Given the description of an element on the screen output the (x, y) to click on. 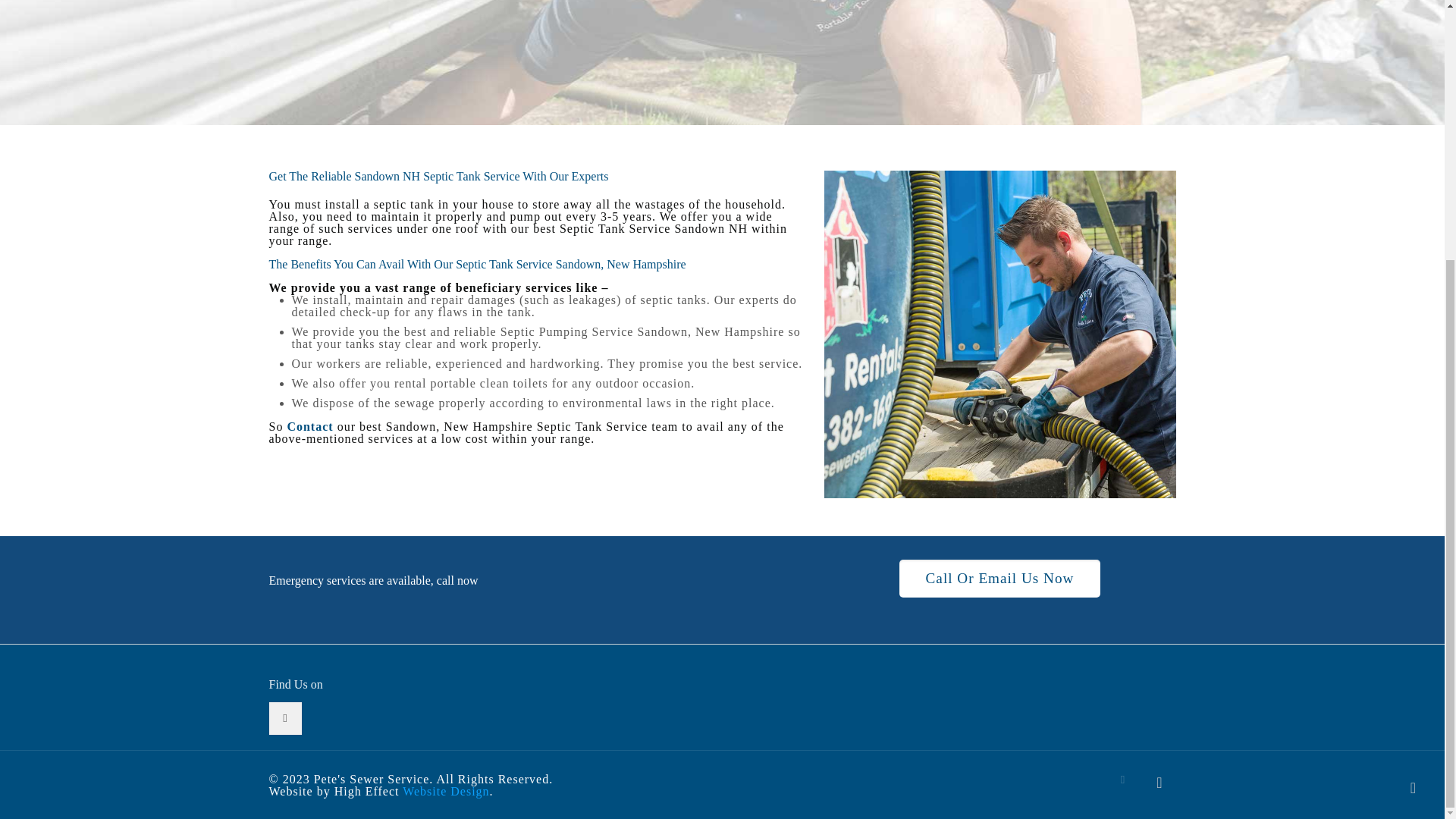
Website Design (446, 790)
Facebook (1123, 779)
Call Or Email Us Now (999, 578)
Contact (309, 426)
